Given the description of an element on the screen output the (x, y) to click on. 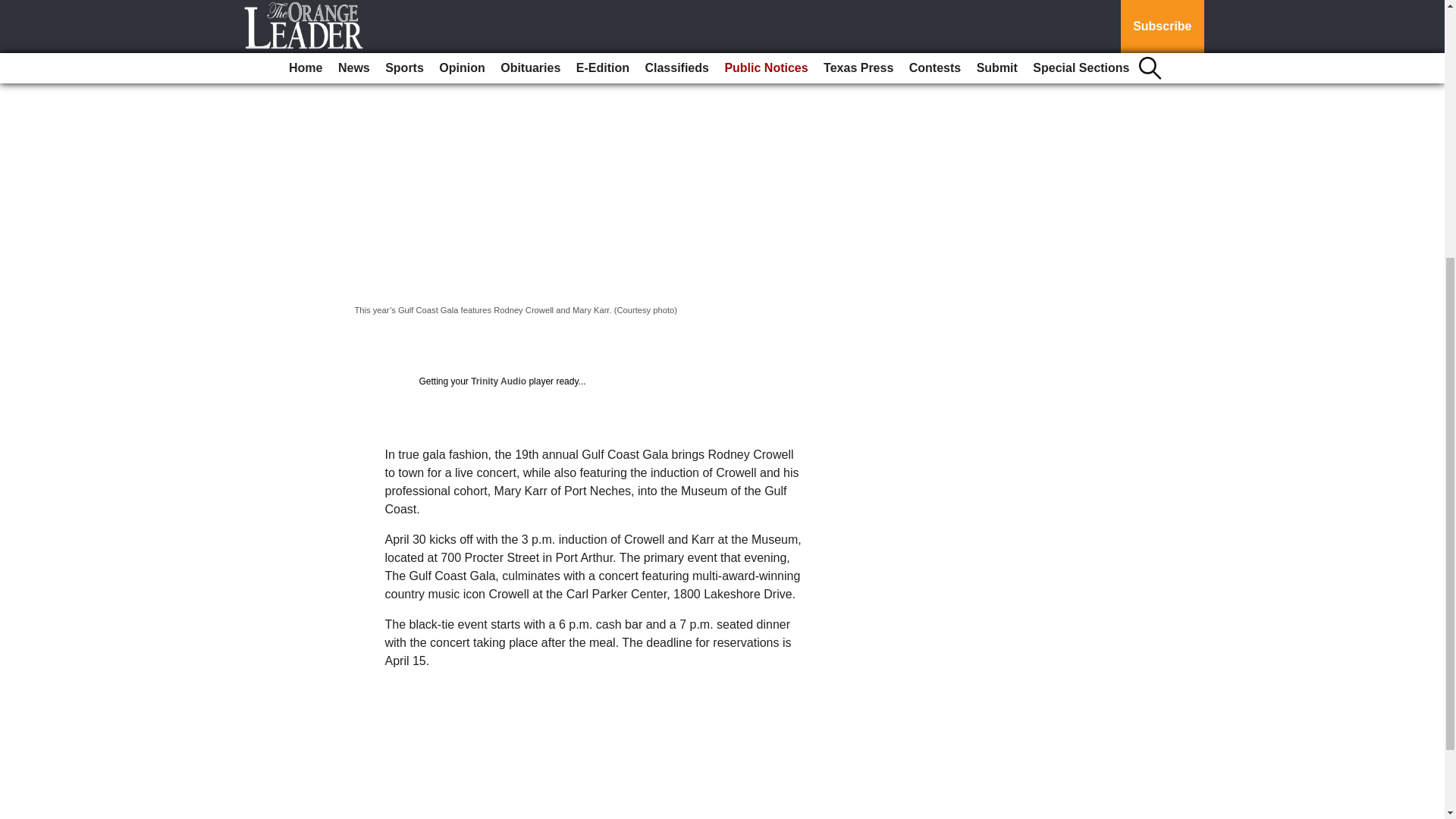
Trinity Audio (497, 380)
Orange Leader (398, 11)
